Given the description of an element on the screen output the (x, y) to click on. 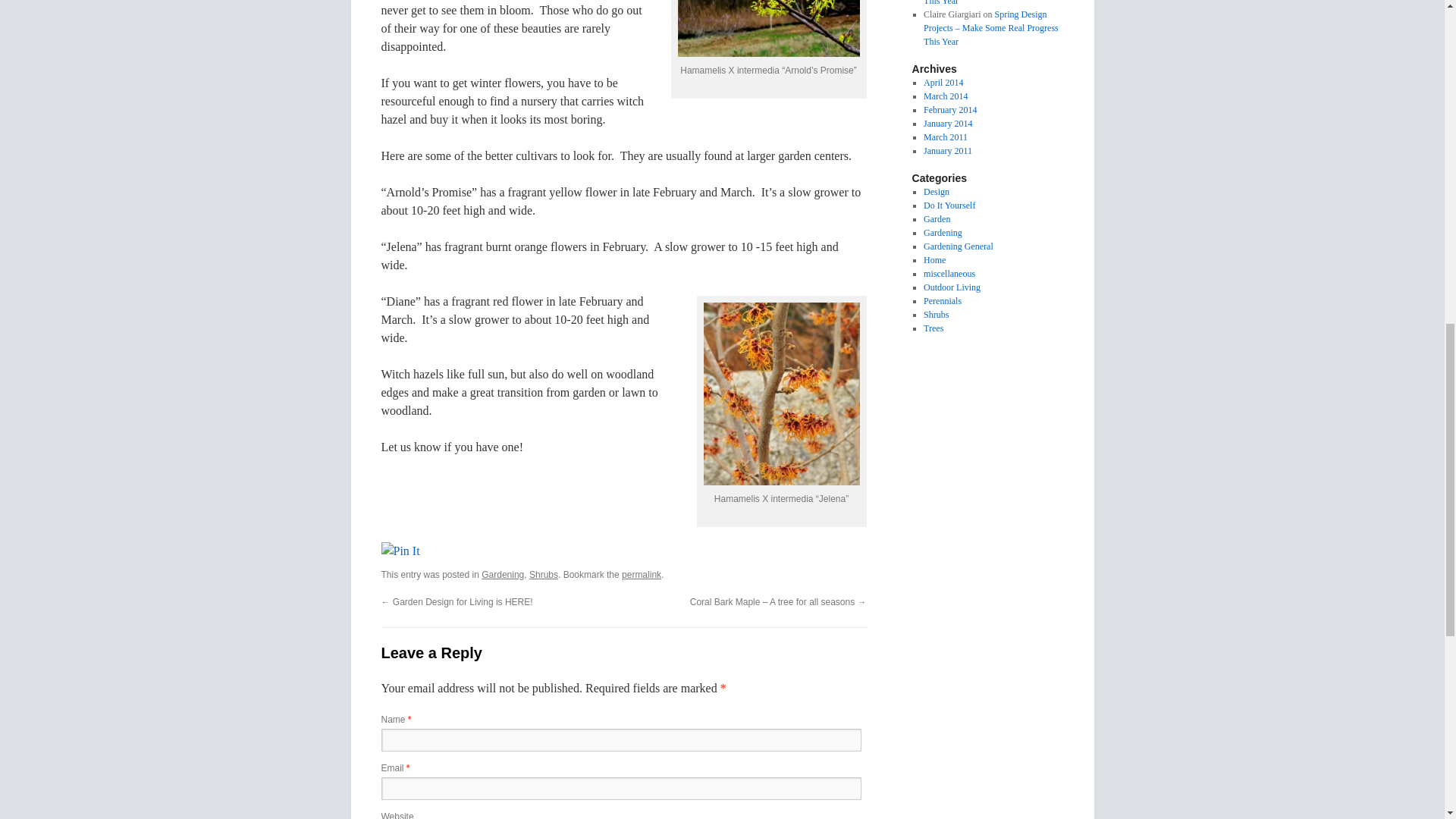
Gardening (502, 574)
Design your own dream landscapes (936, 191)
Shrubs (543, 574)
View all posts in Shrubs (543, 574)
Pin It (399, 551)
Hamamelis 'Arnold's Promise' (769, 28)
View all posts in Gardening (502, 574)
